Given the description of an element on the screen output the (x, y) to click on. 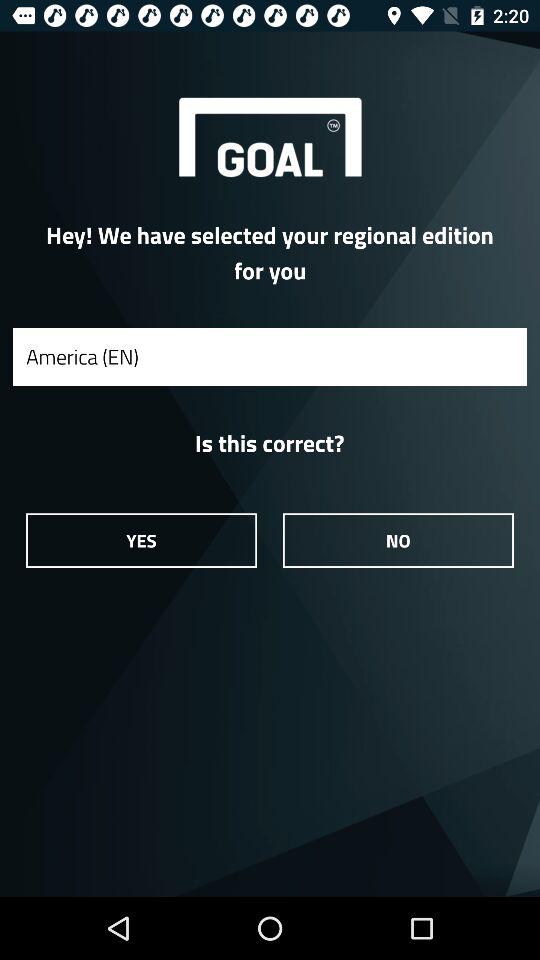
turn on item above the america (en) icon (269, 252)
